Given the description of an element on the screen output the (x, y) to click on. 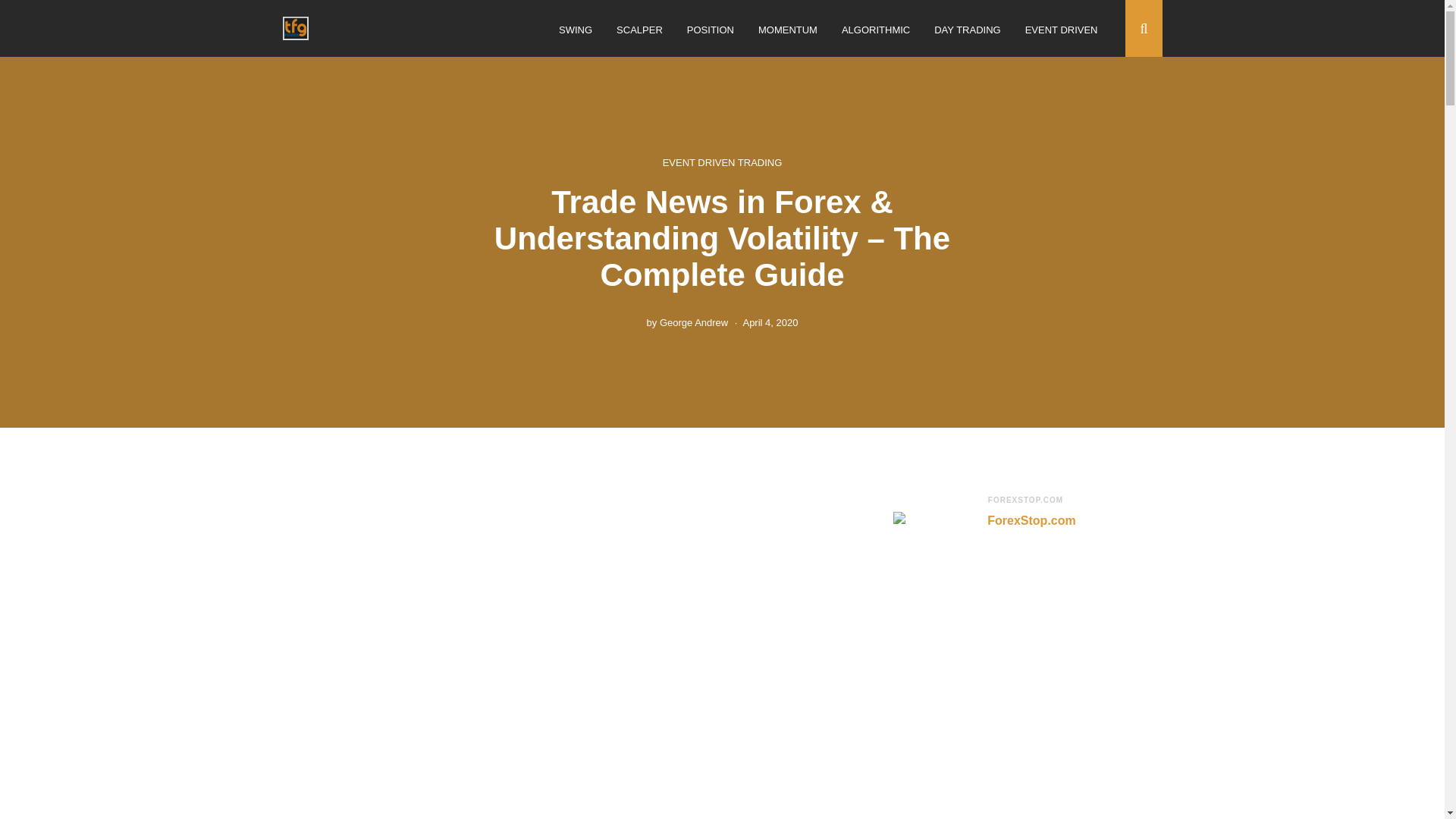
DAY TRADING (967, 30)
SWING (575, 30)
POSITION (710, 30)
George Andrew (693, 322)
SCALPER (638, 30)
MOMENTUM (787, 30)
ALGORITHMIC (875, 30)
EVENT DRIVEN TRADING (722, 162)
EVENT DRIVEN (1061, 30)
